Given the description of an element on the screen output the (x, y) to click on. 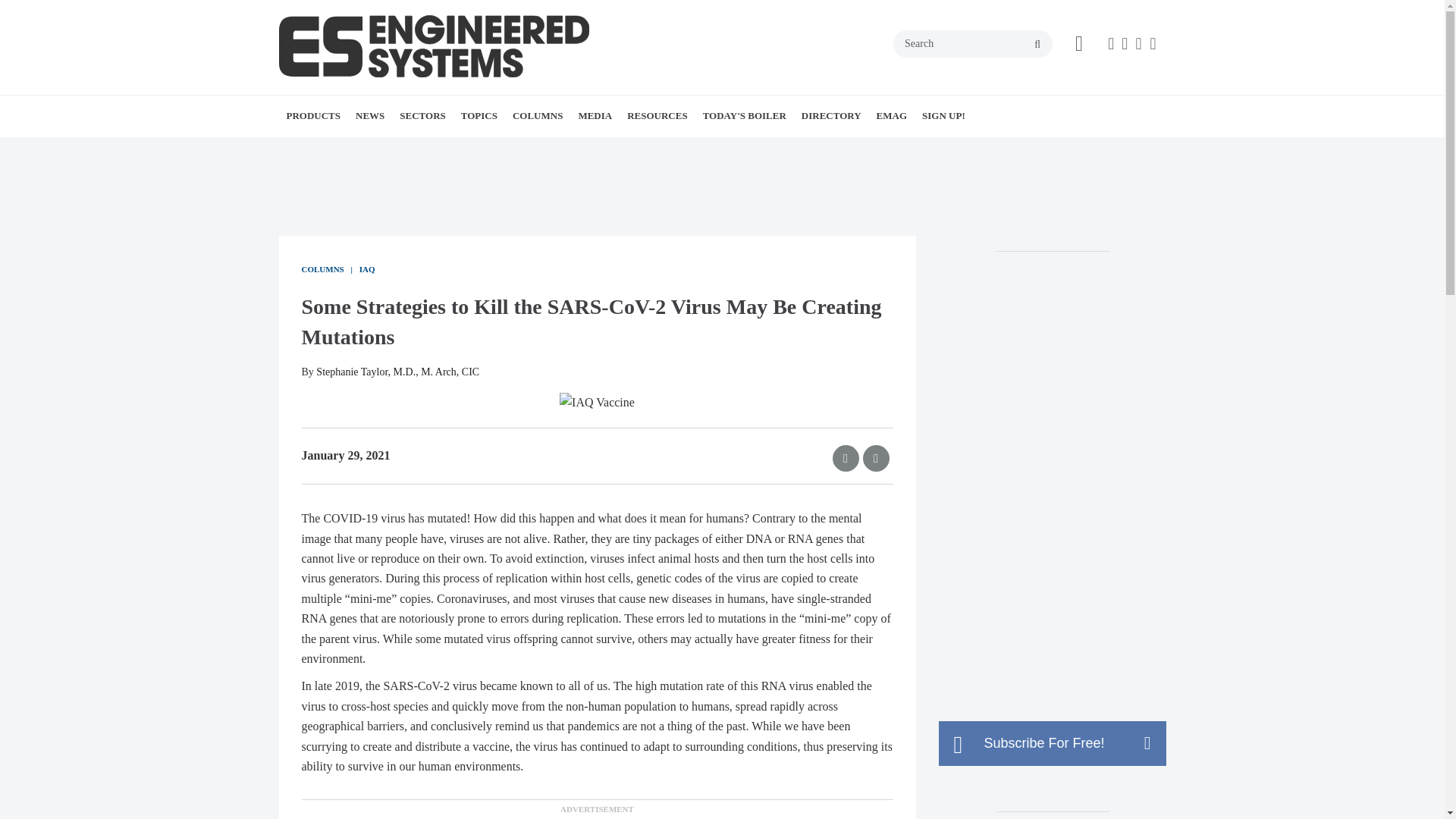
COLUMNS (537, 115)
COMMISSIONING (606, 149)
MISSION CRITICAL (517, 149)
CASE IN POINT (599, 149)
Search (972, 43)
NEWS (369, 115)
search (1037, 44)
RETROFITS (587, 149)
HOSPITALITY (509, 149)
IAQ (574, 149)
